Given the description of an element on the screen output the (x, y) to click on. 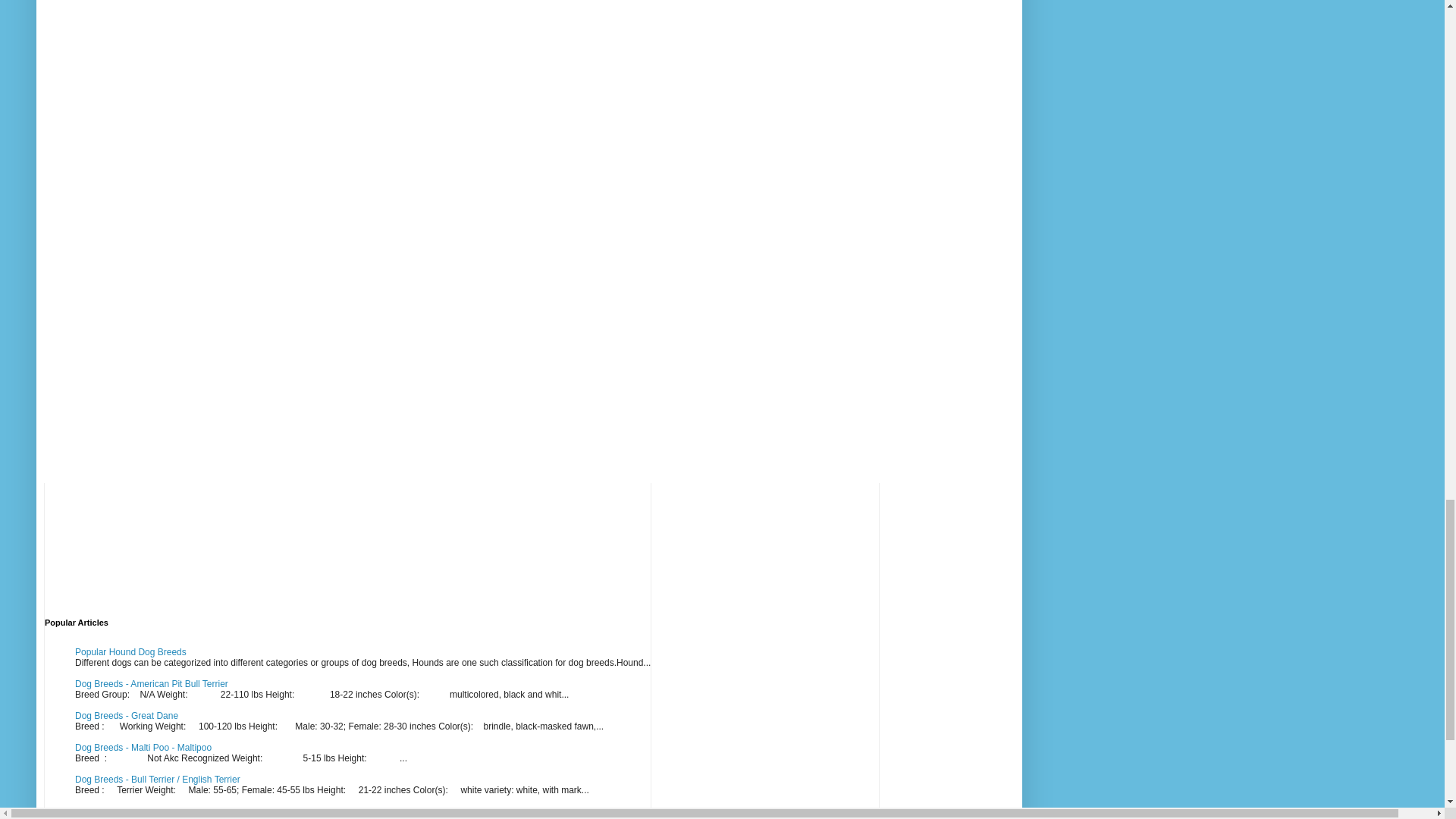
Dog Breeds - Great Dane (126, 715)
Popular Hound Dog Breeds (130, 652)
Dog Breeds - Malti Poo - Maltipoo (143, 747)
Dog Breeds - American Pit Bull Terrier (151, 683)
